Given the description of an element on the screen output the (x, y) to click on. 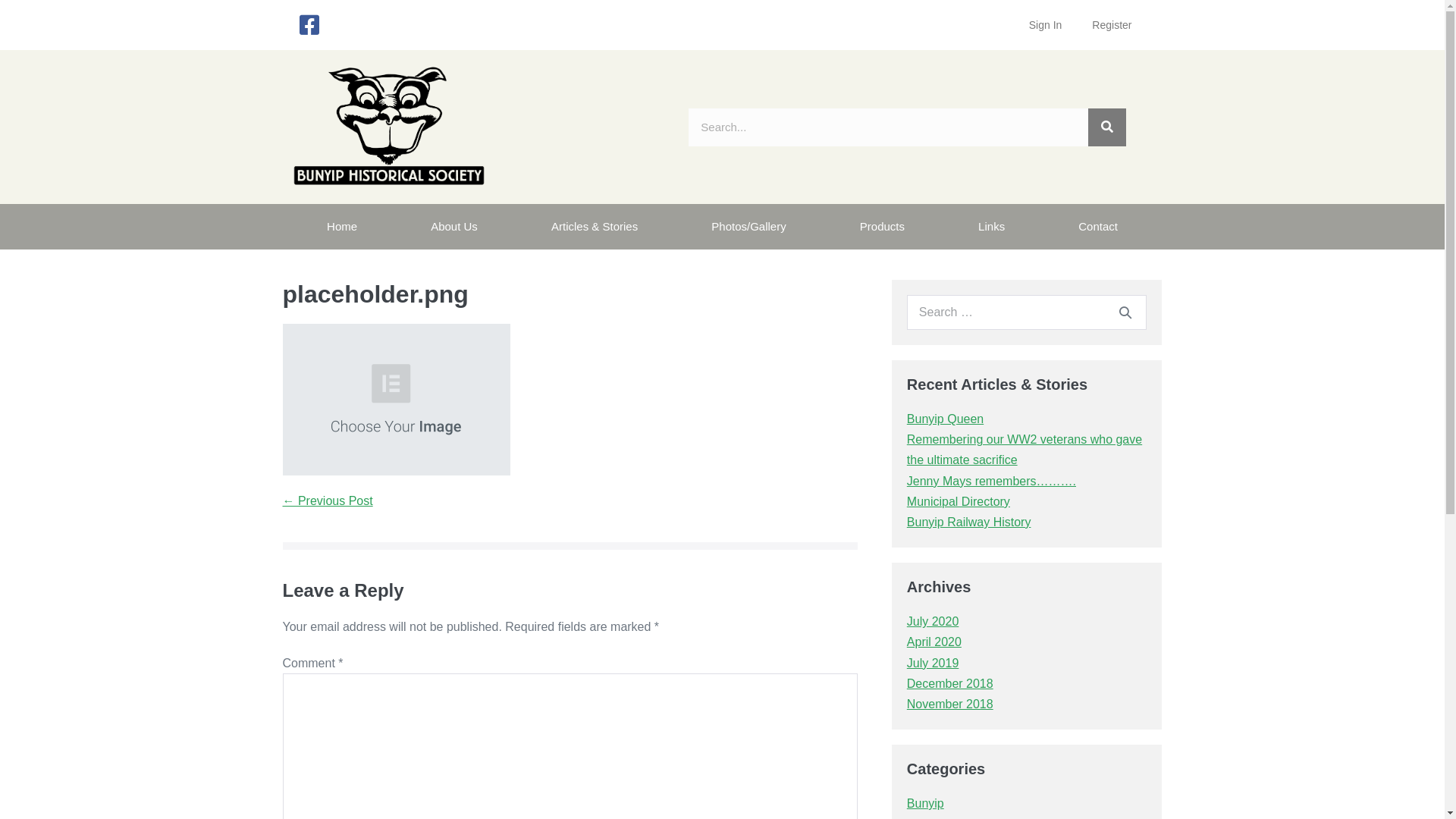
November 2018 Element type: text (949, 703)
Articles & Stories Element type: text (594, 226)
Sign In Element type: text (1045, 24)
Municipal Directory Element type: text (958, 501)
Products Element type: text (881, 226)
July 2019 Element type: text (932, 662)
April 2020 Element type: text (933, 641)
July 2020 Element type: text (932, 621)
Contact Element type: text (1097, 226)
Photos/Gallery Element type: text (748, 226)
Bunyip Railway History Element type: text (968, 521)
Press enter to search Element type: hover (1026, 311)
Home Element type: text (341, 226)
About Us Element type: text (454, 226)
Register Element type: text (1111, 24)
December 2018 Element type: text (949, 683)
Bunyip Queen Element type: text (944, 418)
Search Element type: text (1125, 312)
Links Element type: text (991, 226)
Bunyip Element type: text (925, 803)
Remembering our WW2 veterans who gave the ultimate sacrifice Element type: text (1024, 449)
